Given the description of an element on the screen output the (x, y) to click on. 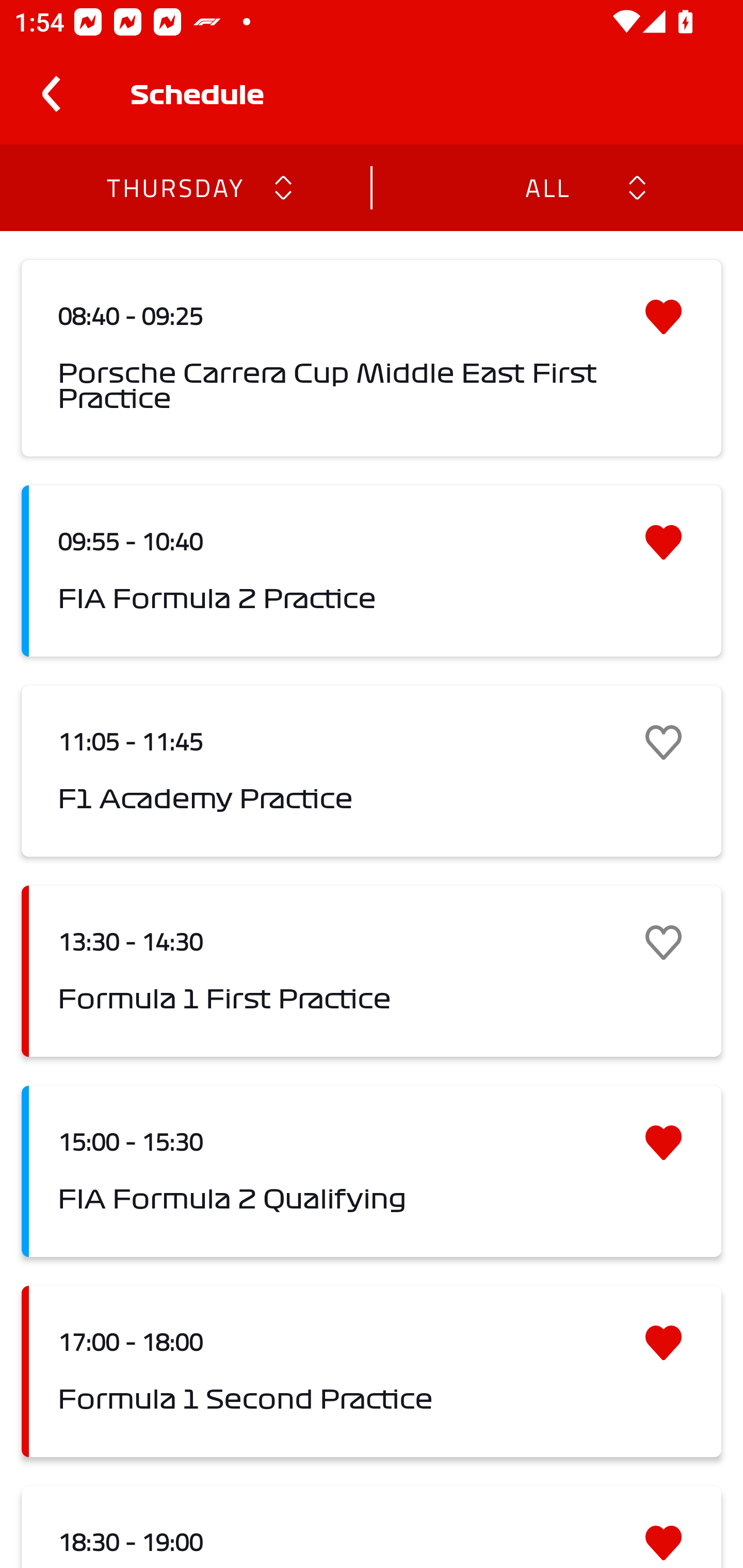
Navigate up (50, 93)
THURSDAY (174, 187)
ALL (546, 187)
09:55 - 10:40 FIA Formula 2 Practice (371, 571)
11:05 - 11:45 F1 Academy Practice (371, 770)
13:30 - 14:30 Formula 1 First Practice (371, 970)
15:00 - 15:30 FIA Formula 2 Qualifying (371, 1171)
17:00 - 18:00 Formula 1 Second Practice (371, 1370)
18:30 - 19:00 (371, 1527)
